Given the description of an element on the screen output the (x, y) to click on. 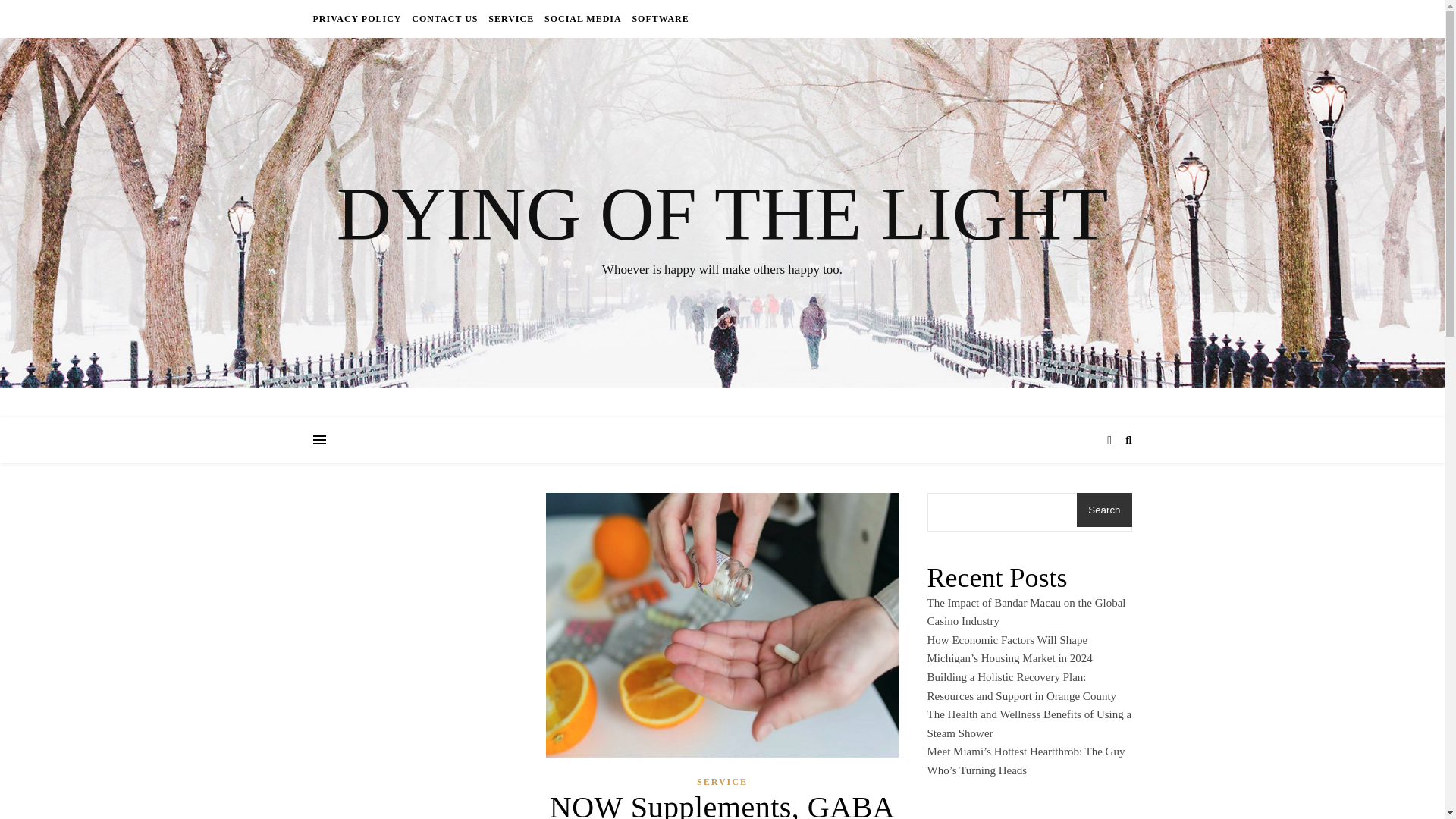
CONTACT US (444, 18)
SERVICE (722, 781)
SOFTWARE (657, 18)
The Health and Wellness Benefits of Using a Steam Shower (1028, 723)
Search (1104, 510)
SOCIAL MEDIA (583, 18)
PRIVACY POLICY (358, 18)
The Impact of Bandar Macau on the Global Casino Industry (1025, 612)
SERVICE (510, 18)
